Given the description of an element on the screen output the (x, y) to click on. 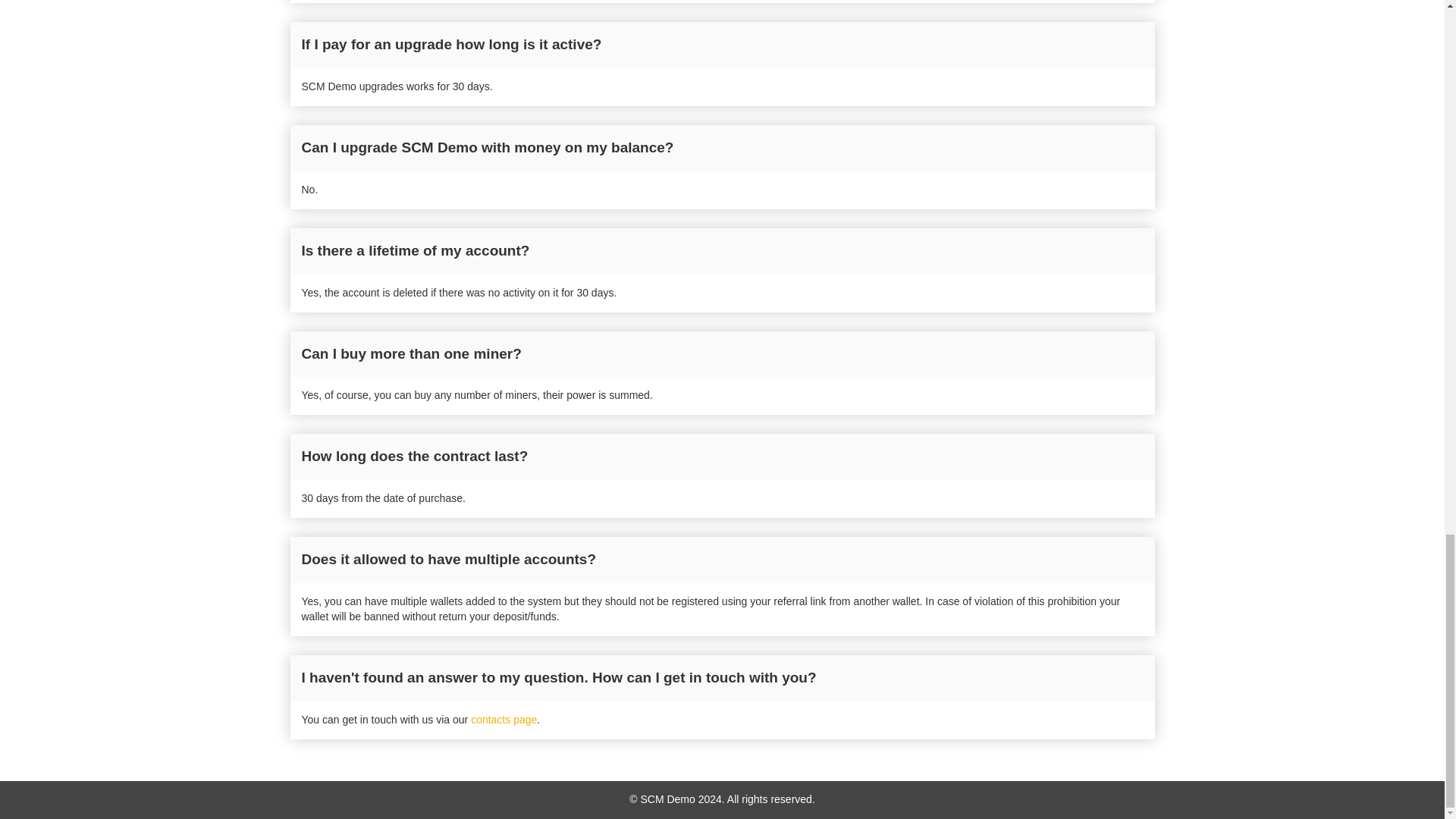
contacts page (503, 719)
